Given the description of an element on the screen output the (x, y) to click on. 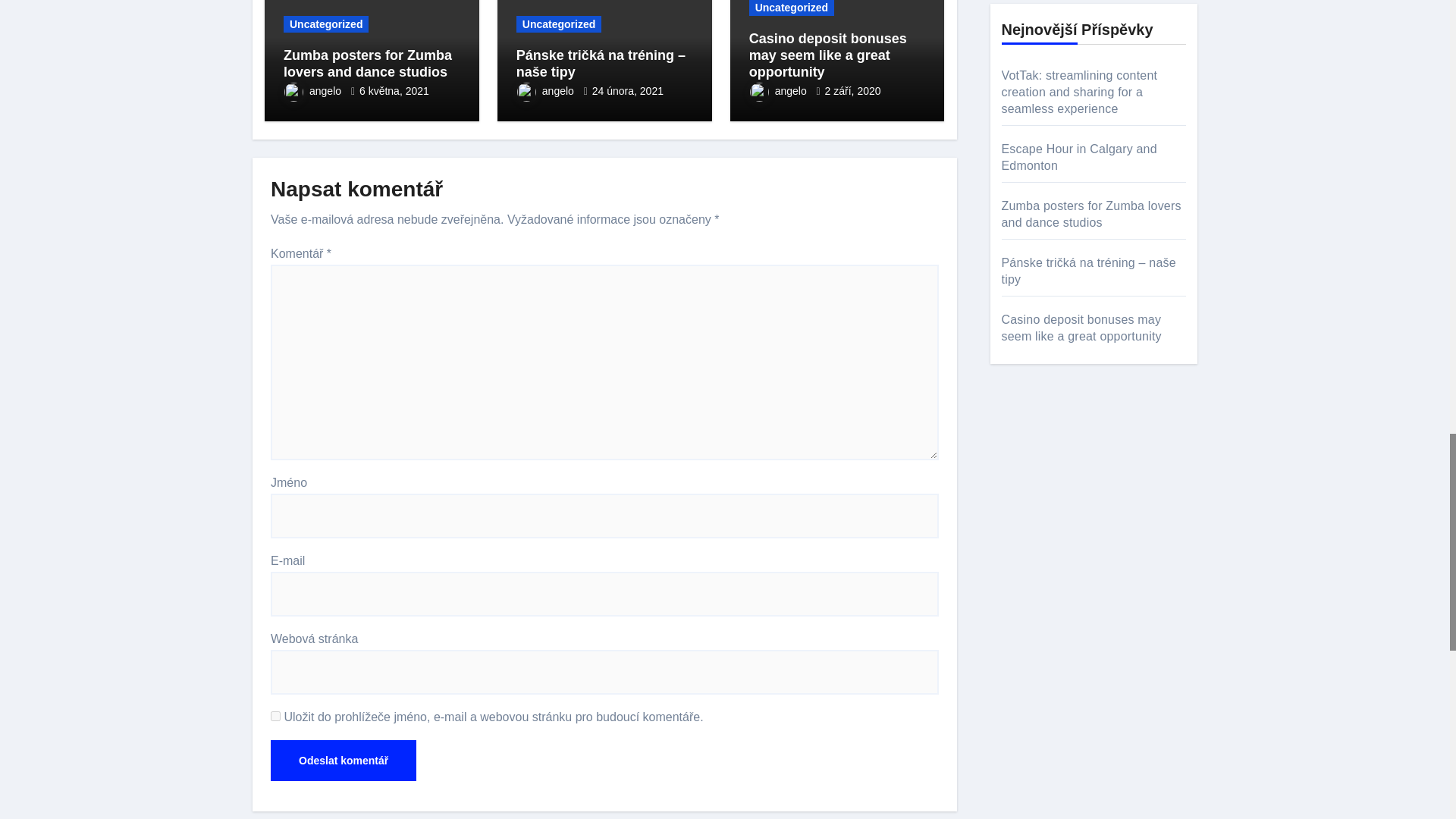
yes (275, 716)
